Given the description of an element on the screen output the (x, y) to click on. 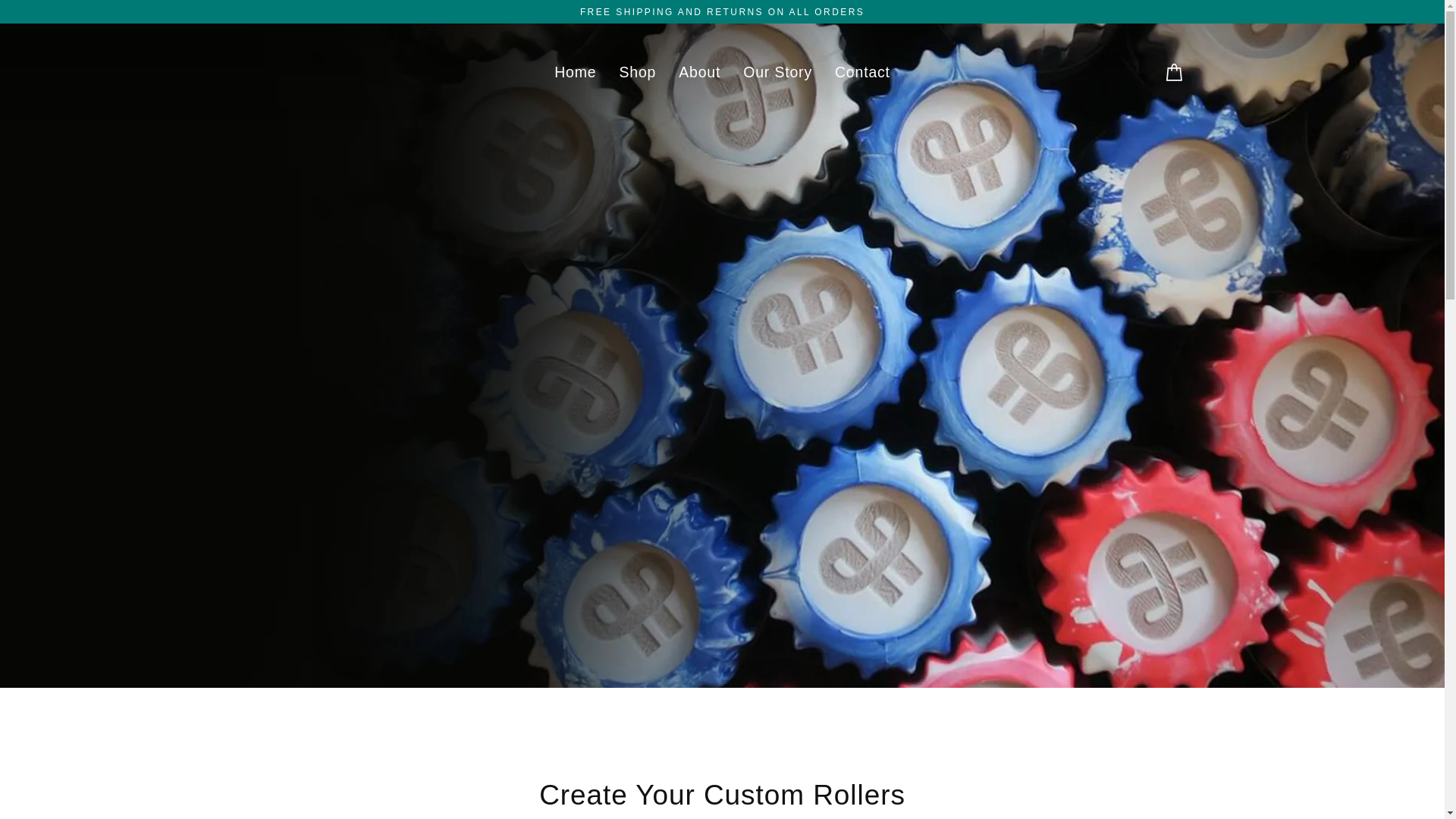
Home (575, 72)
Contact (862, 72)
Shop (636, 72)
Cart (1173, 72)
Our Story (778, 72)
About (699, 72)
